Given the description of an element on the screen output the (x, y) to click on. 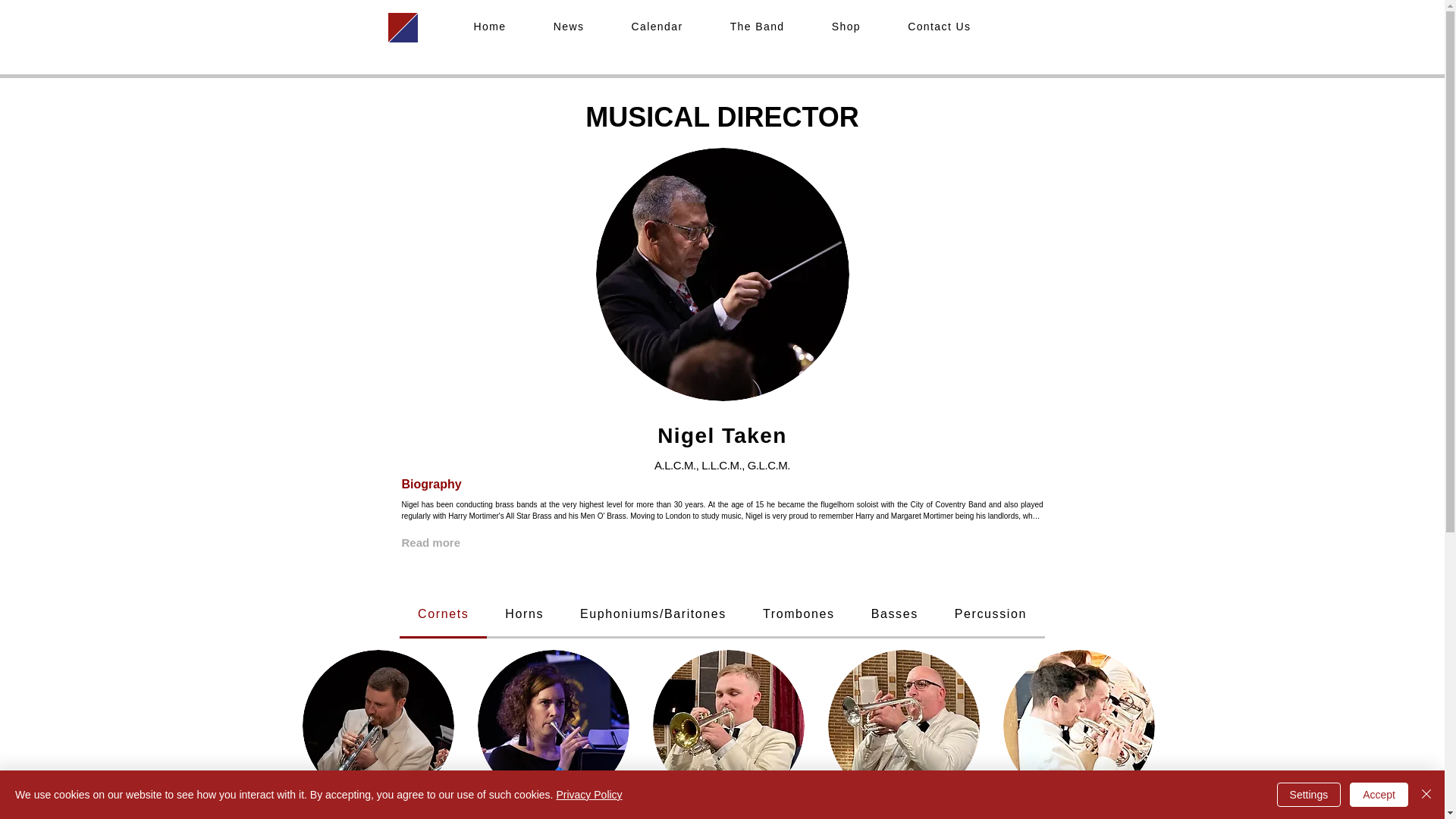
Calendar (656, 26)
News (568, 26)
Home (489, 26)
Settings (1308, 794)
Shop (845, 26)
Privacy Policy (588, 794)
Read more (431, 542)
Contact Us (938, 26)
Accept (1378, 794)
